Given the description of an element on the screen output the (x, y) to click on. 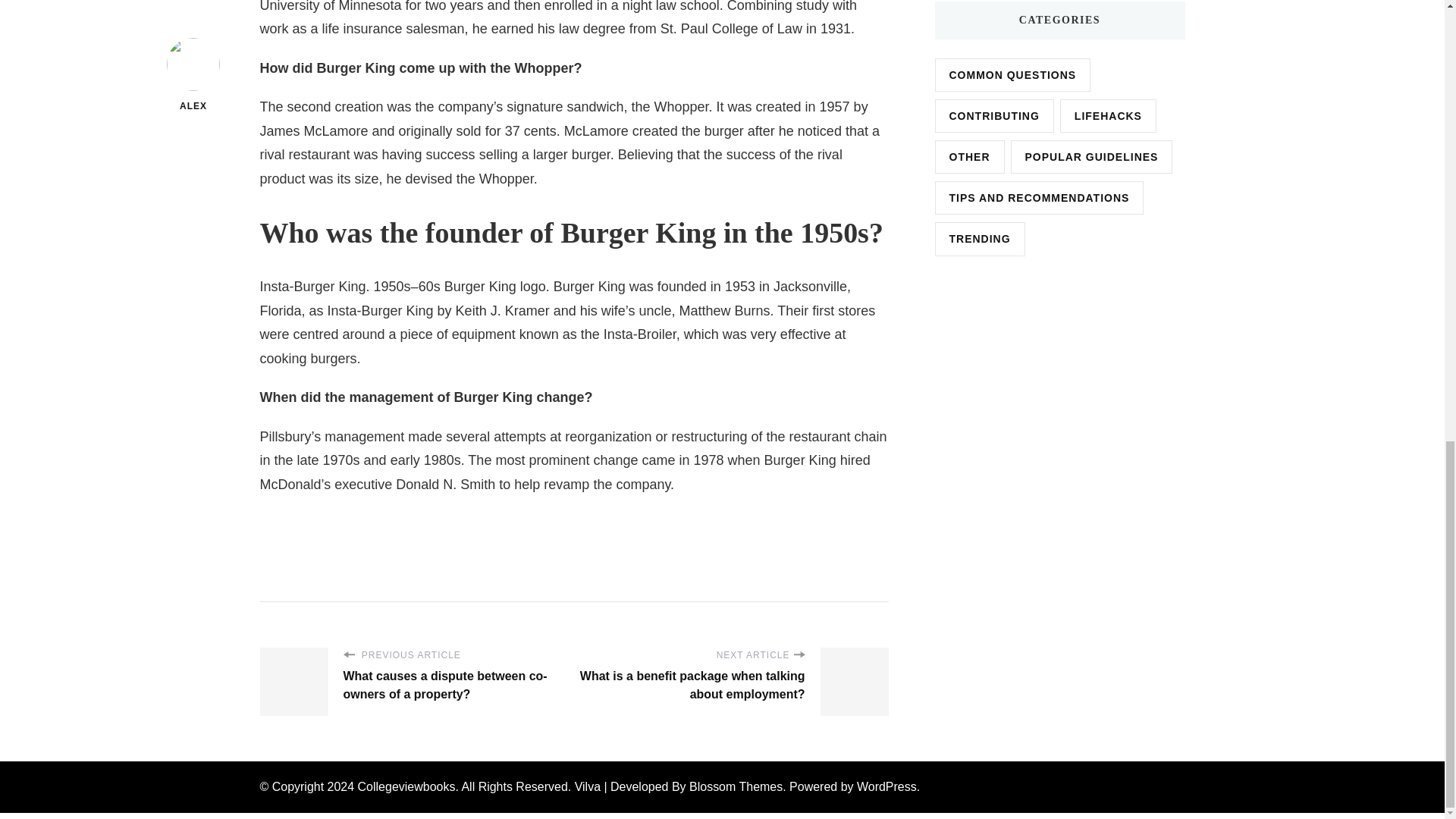
CONTRIBUTING (993, 115)
COMMON QUESTIONS (1012, 74)
LIFEHACKS (1107, 115)
OTHER (969, 156)
